Given the description of an element on the screen output the (x, y) to click on. 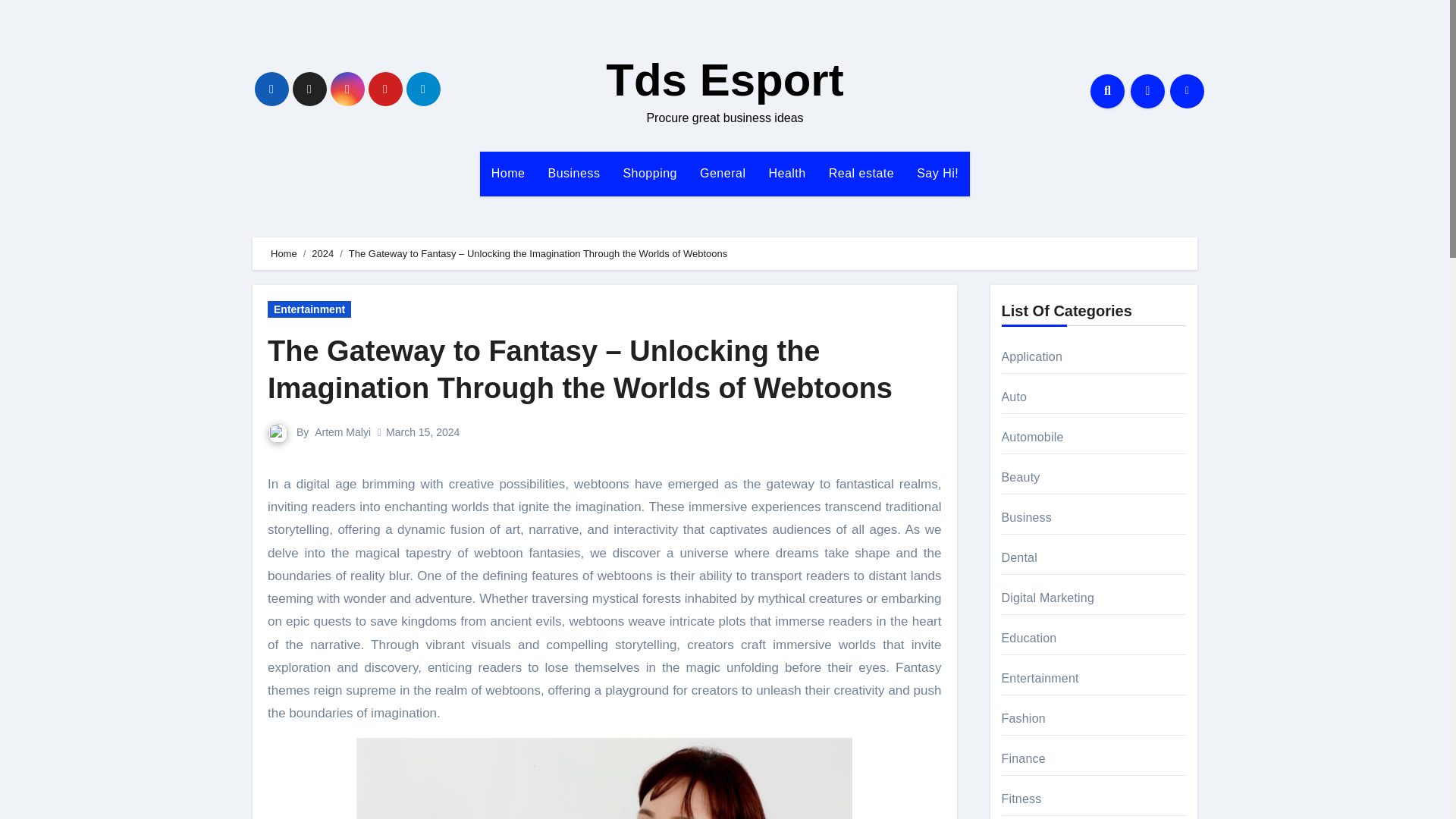
Shopping (649, 173)
Health (786, 173)
Say Hi! (937, 173)
General (722, 173)
Artem Malyi (342, 431)
Real estate (860, 173)
Home (508, 173)
March 15, 2024 (422, 431)
Home (508, 173)
Entertainment (308, 309)
Shopping (649, 173)
Business (573, 173)
Real estate (860, 173)
Home (283, 253)
General (722, 173)
